Given the description of an element on the screen output the (x, y) to click on. 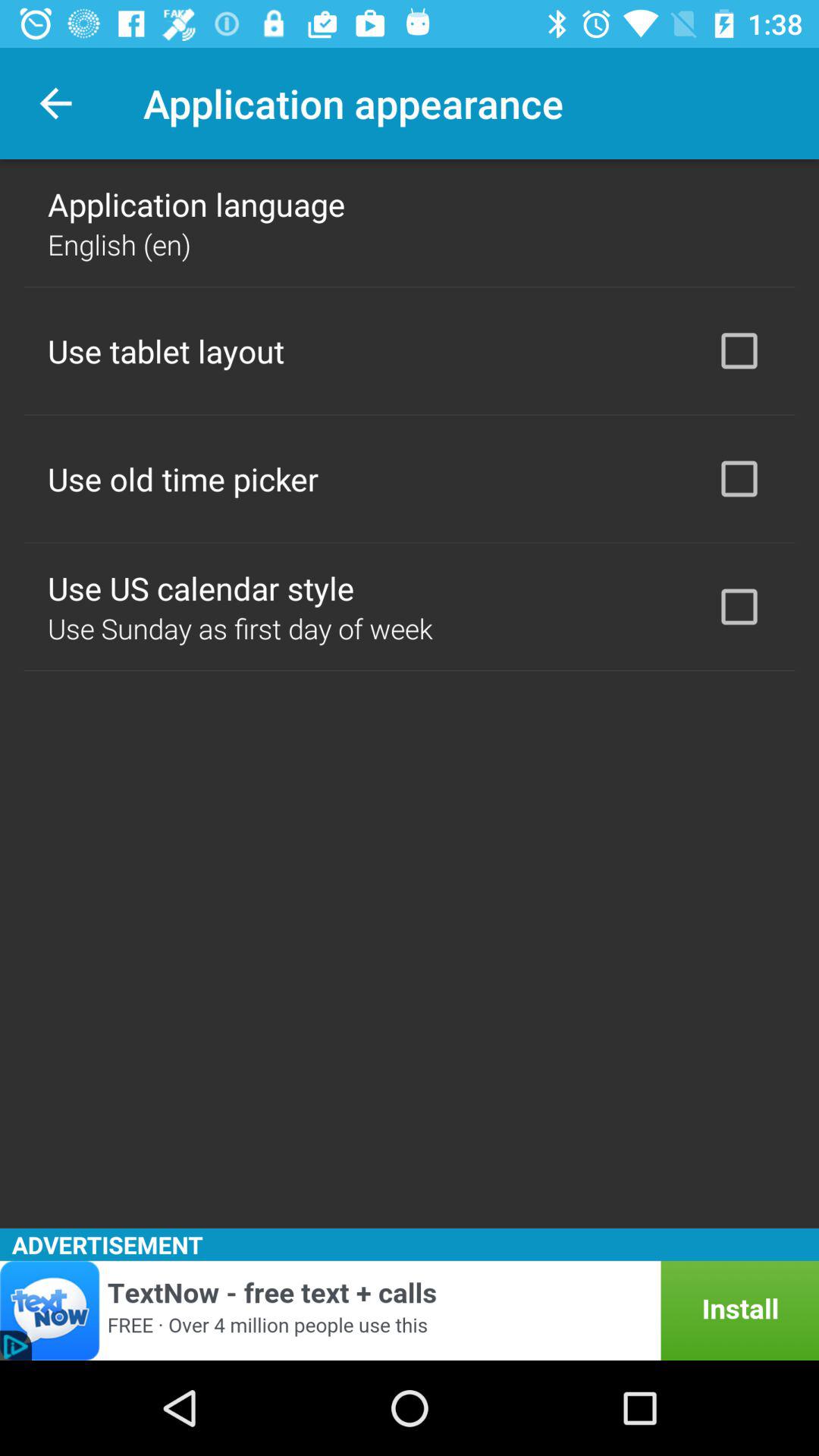
advertising (409, 1310)
